Given the description of an element on the screen output the (x, y) to click on. 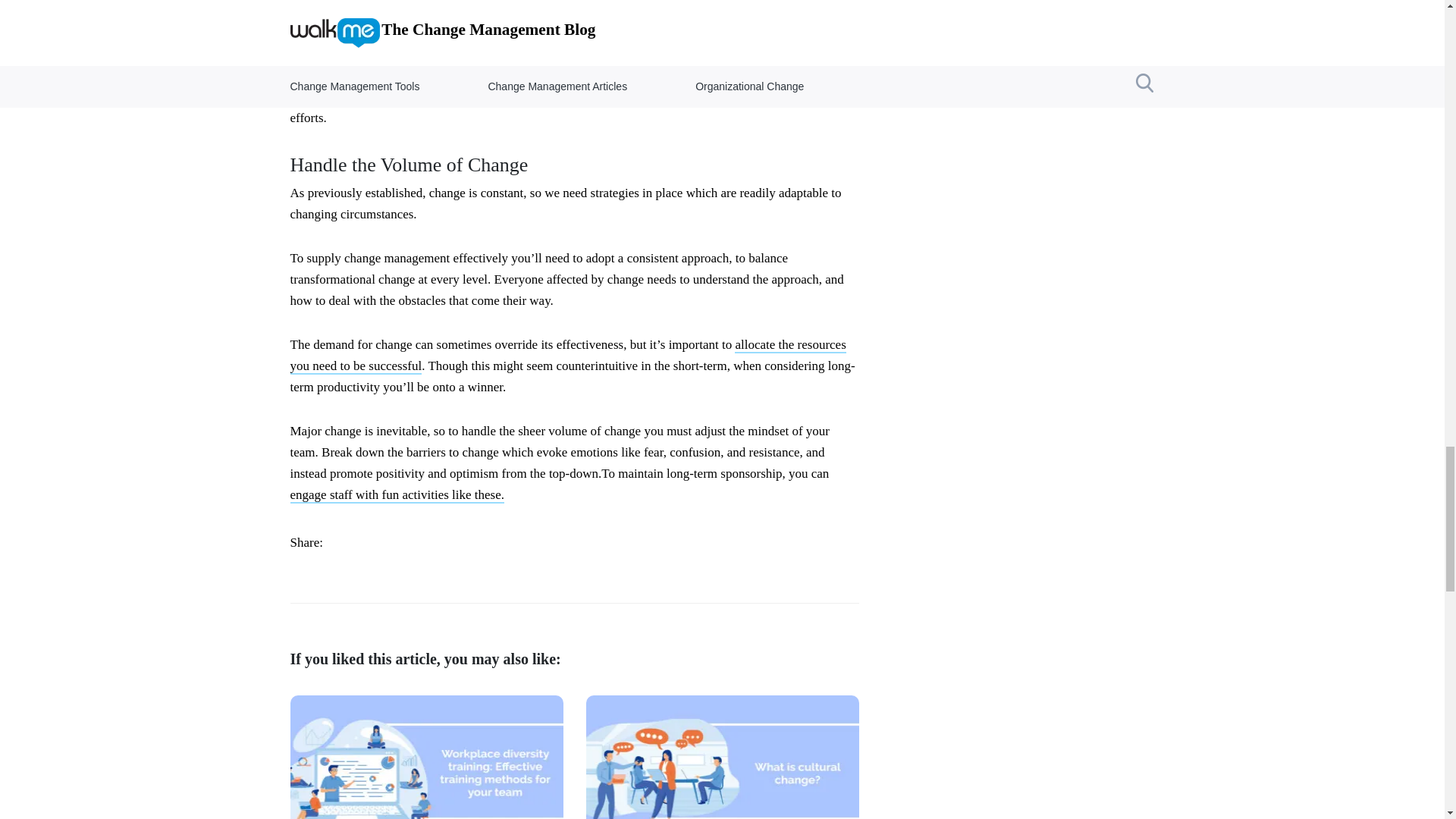
allocate the resources you need to be successful (567, 355)
engage staff with fun activities like these. (396, 495)
